Given the description of an element on the screen output the (x, y) to click on. 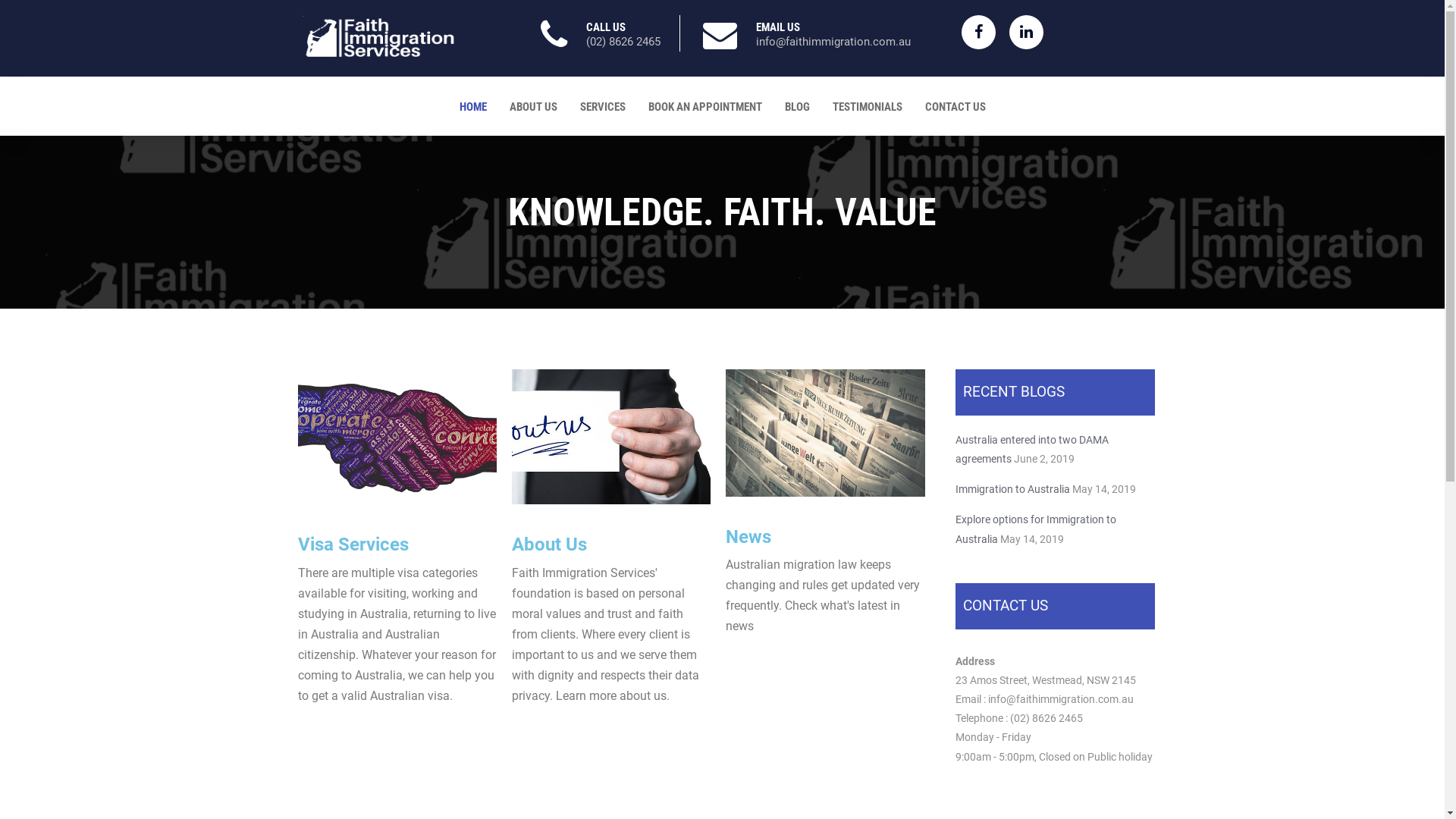
HOME Element type: text (472, 106)
TESTIMONIALS Element type: text (866, 106)
Explore options for Immigration to Australia Element type: text (1035, 528)
SERVICES Element type: text (602, 106)
ABOUT US Element type: text (532, 106)
CONTACT US Element type: text (954, 106)
Australia entered into two DAMA agreements Element type: text (1031, 448)
BLOG Element type: text (797, 106)
News Element type: hover (824, 432)
Immigration to Australia Element type: text (1012, 489)
BOOK AN APPOINTMENT Element type: text (705, 106)
